Given the description of an element on the screen output the (x, y) to click on. 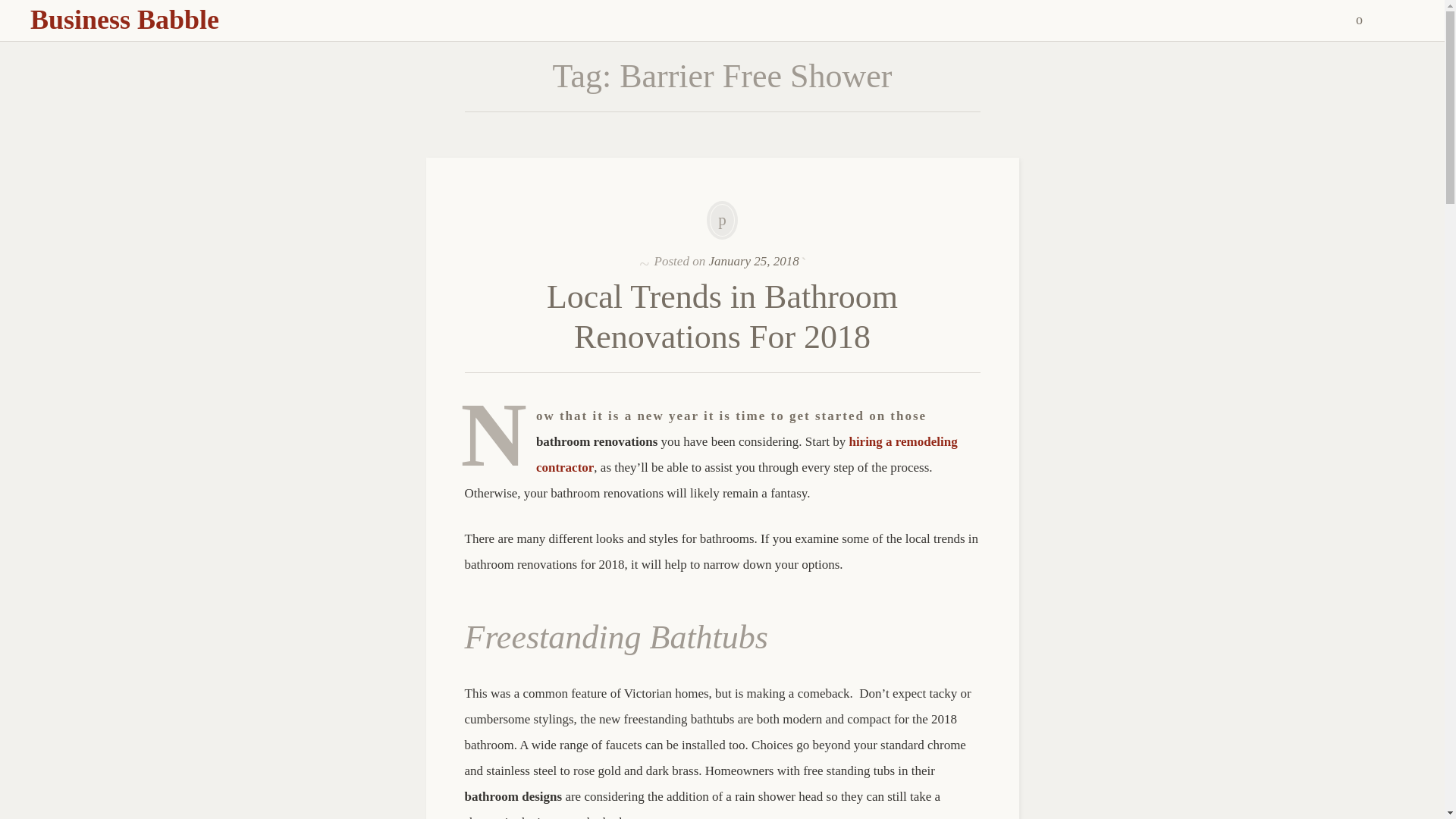
January 25, 2018 (752, 260)
Business Babble (124, 19)
Local Trends in Bathroom Renovations For 2018 (722, 316)
Search (11, 9)
hiring a remodeling contractor (746, 454)
Business Babble (124, 19)
